Given the description of an element on the screen output the (x, y) to click on. 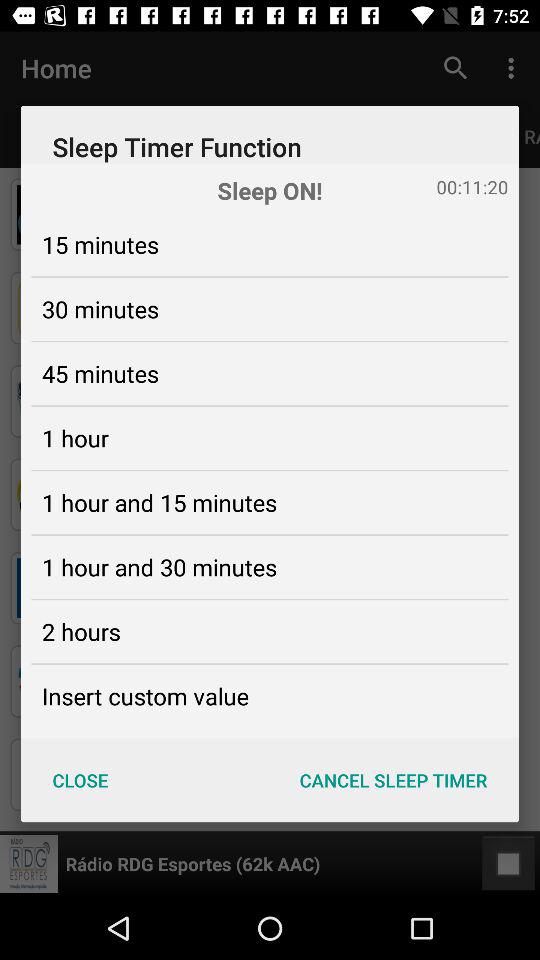
open icon next to cancel sleep timer (80, 779)
